Given the description of an element on the screen output the (x, y) to click on. 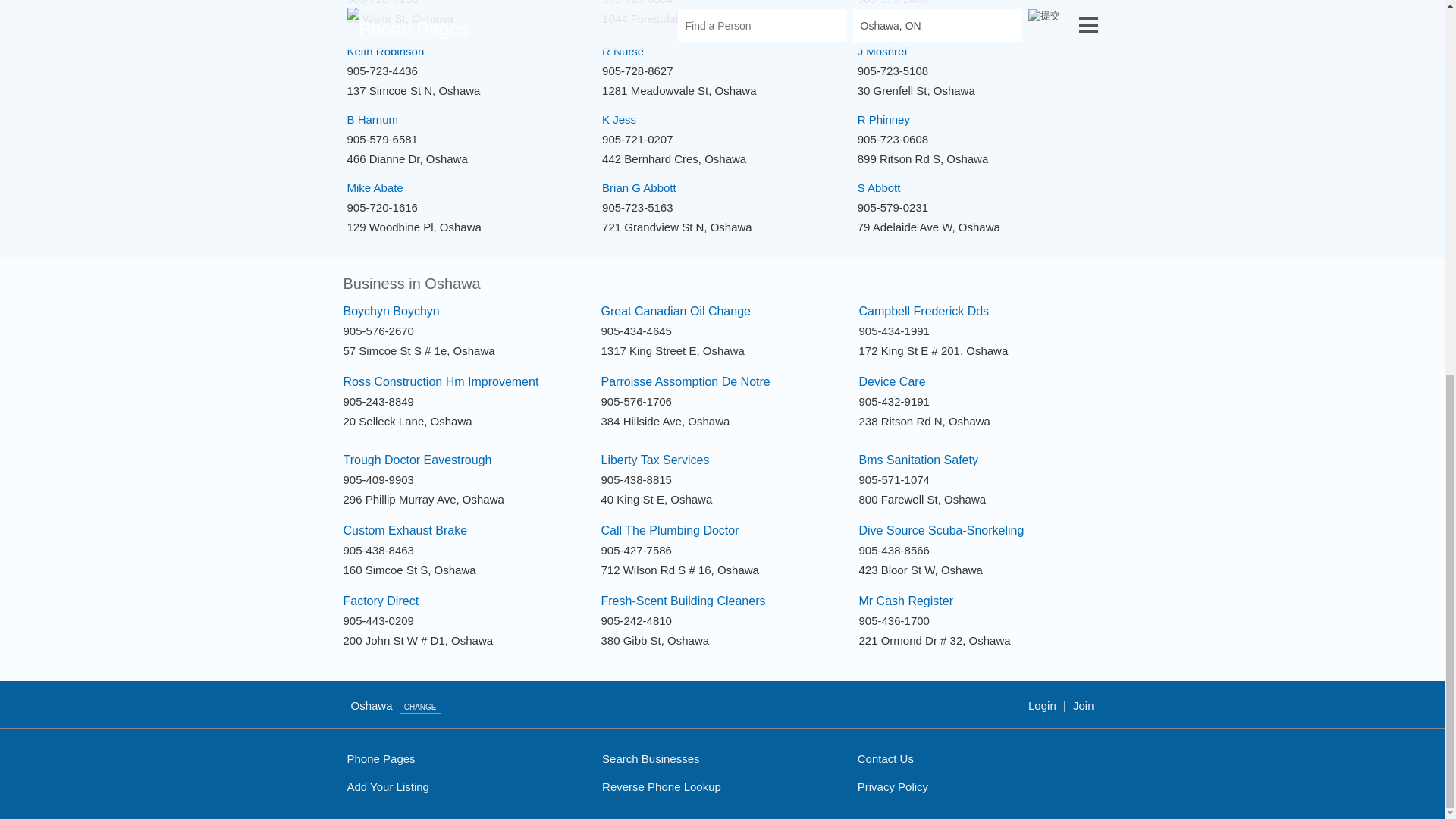
R Phinney (883, 119)
Trough Doctor Eavestrough (417, 459)
Liberty Tax Services (654, 459)
J Moshref (882, 51)
Campbell Frederick Dds (923, 310)
B Harnum (372, 119)
Boychyn Boychyn (390, 310)
K Jess (619, 119)
Ross Construction Hm Improvement (440, 381)
Great Canadian Oil Change (674, 310)
